Given the description of an element on the screen output the (x, y) to click on. 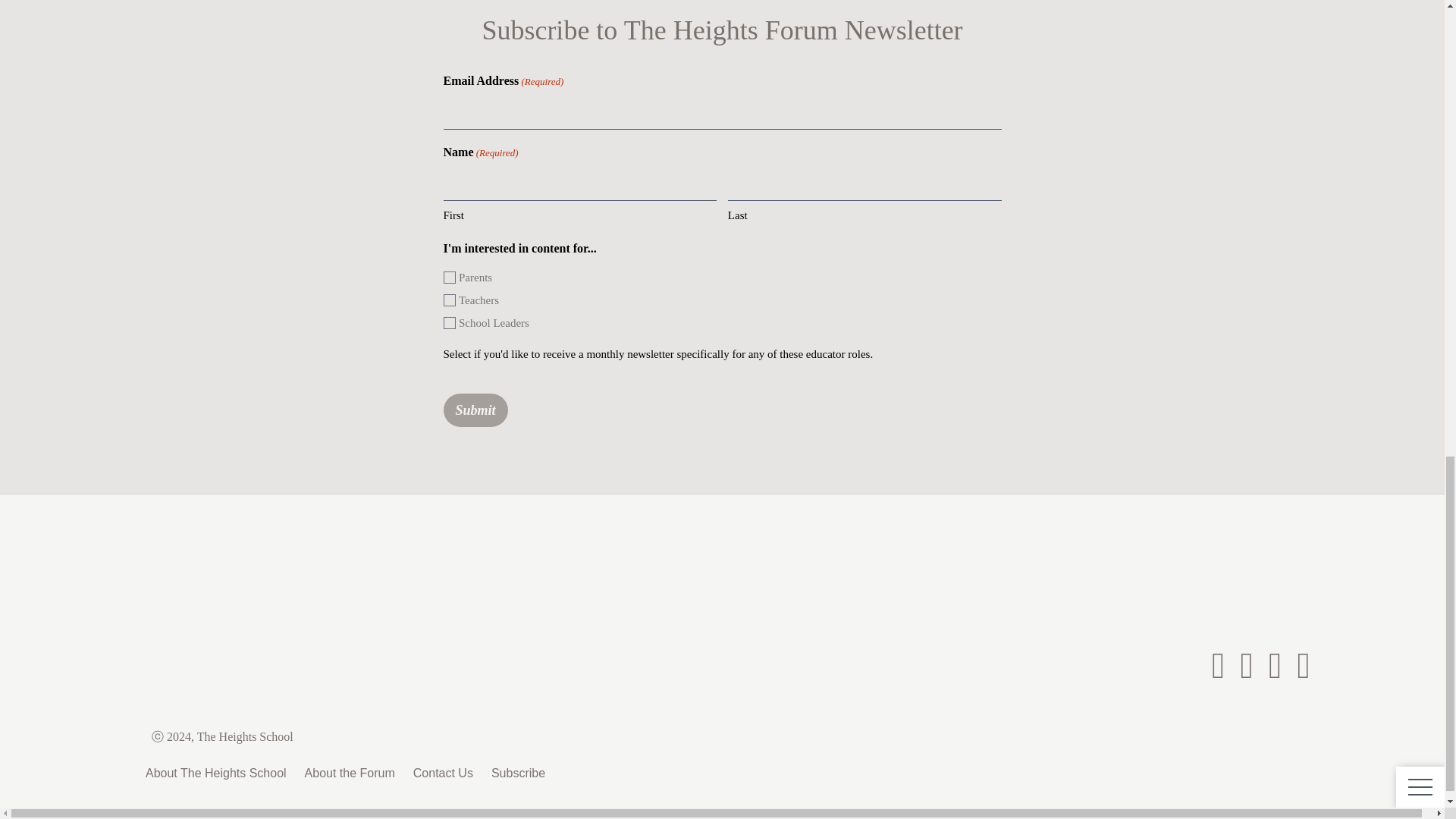
About the Forum (349, 773)
Teachers (448, 300)
Subscribe (518, 773)
Parents (448, 277)
About The Heights School (215, 773)
Contact Us (443, 773)
Submit (474, 409)
Submit (474, 409)
School Leaders (448, 322)
